Given the description of an element on the screen output the (x, y) to click on. 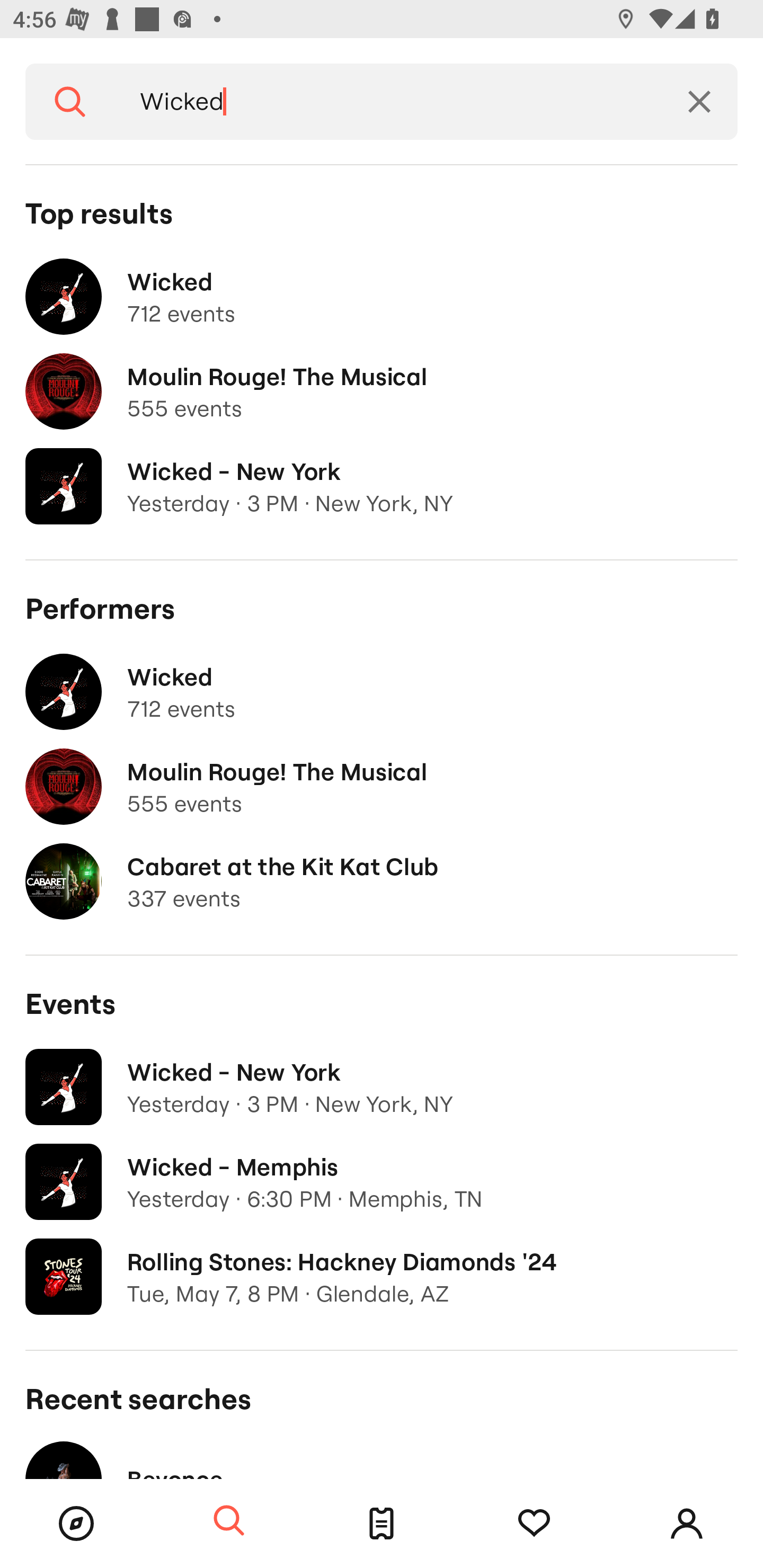
Search (69, 101)
Wicked (387, 101)
Clear (699, 101)
Wicked 712 events (381, 296)
Moulin Rouge! The Musical 555 events (381, 391)
Wicked - New York Yesterday · 3 PM · New York, NY (381, 486)
Wicked 712 events (381, 692)
Moulin Rouge! The Musical 555 events (381, 787)
Cabaret at the Kit Kat Club 337 events (381, 881)
Wicked - New York Yesterday · 3 PM · New York, NY (381, 1087)
Wicked - Memphis Yesterday · 6:30 PM · Memphis, TN (381, 1182)
Browse (76, 1523)
Search (228, 1521)
Tickets (381, 1523)
Tracking (533, 1523)
Account (686, 1523)
